Given the description of an element on the screen output the (x, y) to click on. 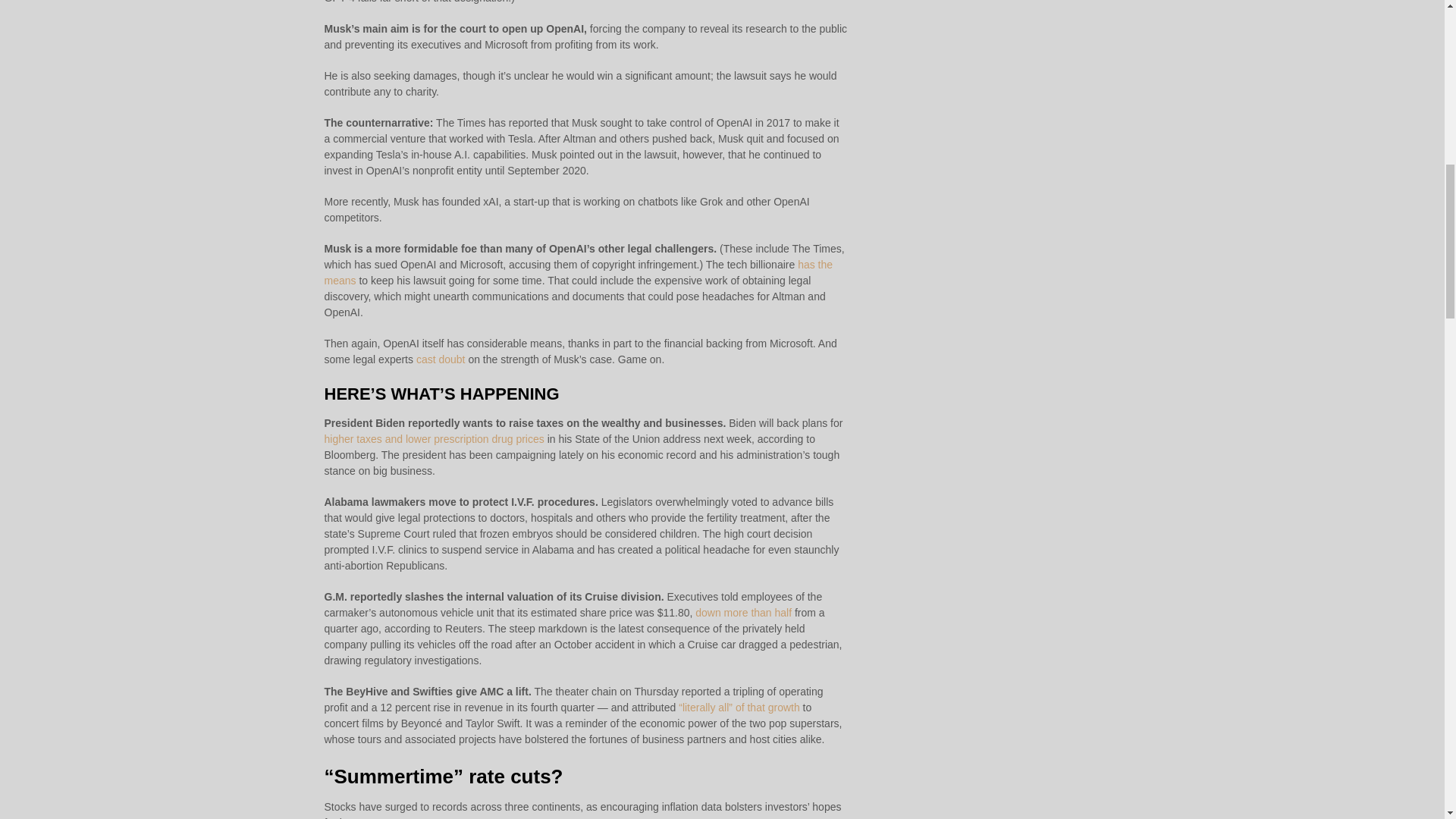
cast doubt (440, 358)
has the means (578, 272)
higher taxes and lower prescription drug prices (434, 439)
down more than half (743, 612)
